Given the description of an element on the screen output the (x, y) to click on. 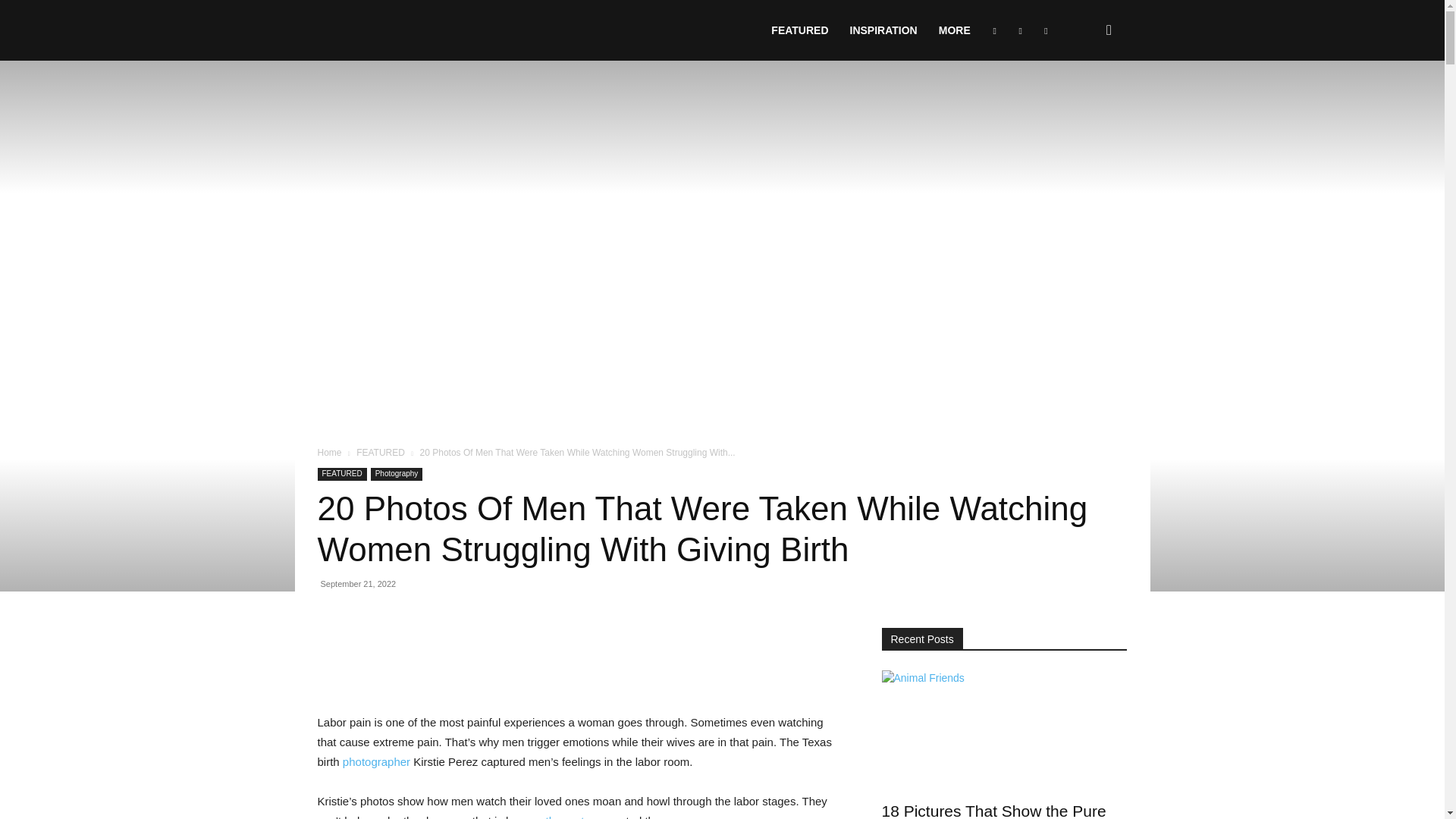
View all posts in FEATURED (380, 452)
FEATURED (799, 30)
topFacebookLike (430, 635)
Search (1085, 102)
